Given the description of an element on the screen output the (x, y) to click on. 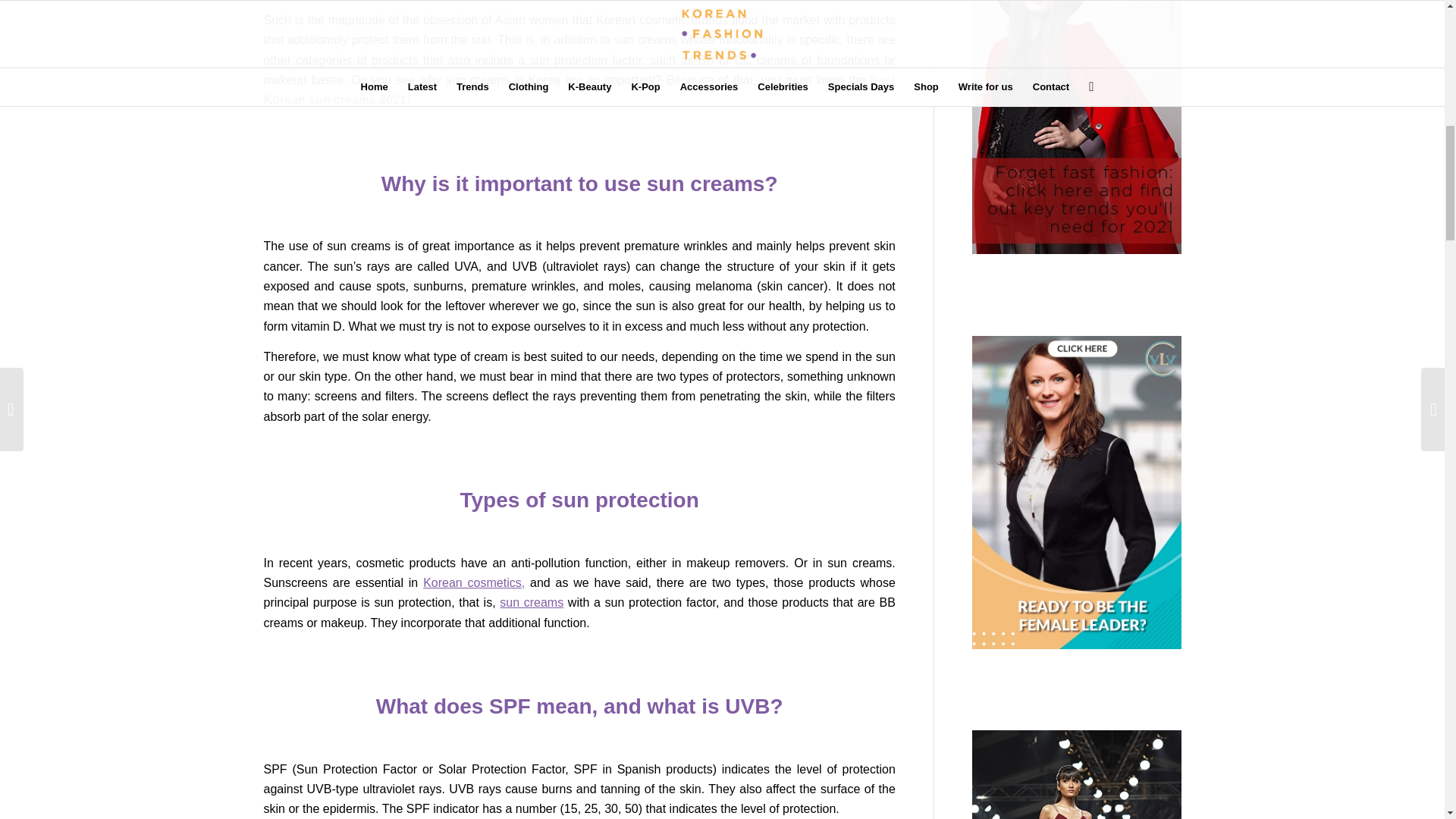
Korean sunscreen scandal (531, 602)
